Given the description of an element on the screen output the (x, y) to click on. 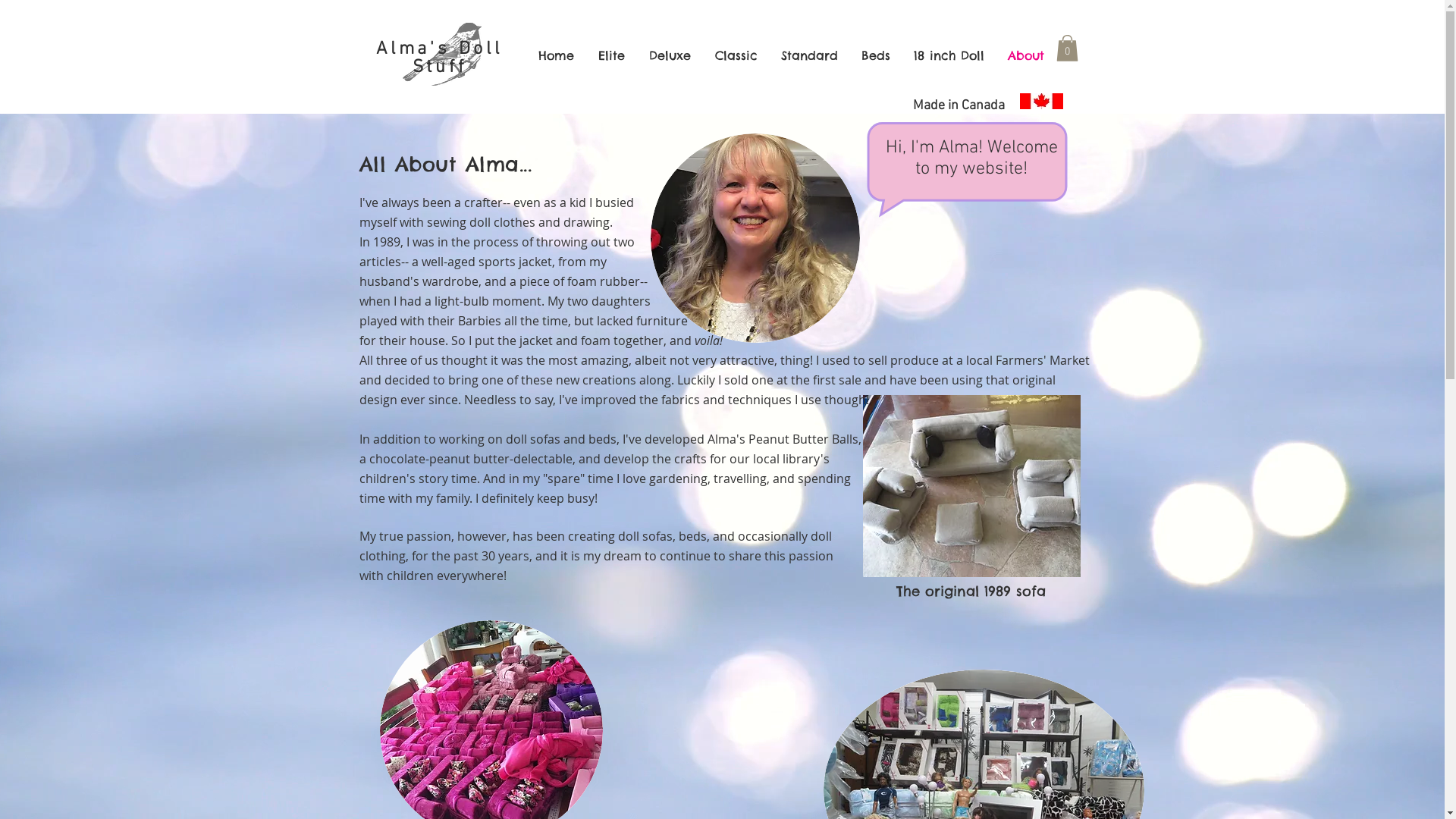
Beds Element type: text (875, 54)
0 Element type: text (1066, 47)
About Element type: text (1026, 54)
Alma's Doll Stuff Element type: text (439, 58)
Classic Element type: text (735, 54)
Elite Element type: text (610, 54)
flag-of-canada.jpg Element type: hover (1040, 101)
Standard Element type: text (808, 54)
18 inch Doll Element type: text (949, 54)
Deluxe Element type: text (669, 54)
Home Element type: text (556, 54)
